Given the description of an element on the screen output the (x, y) to click on. 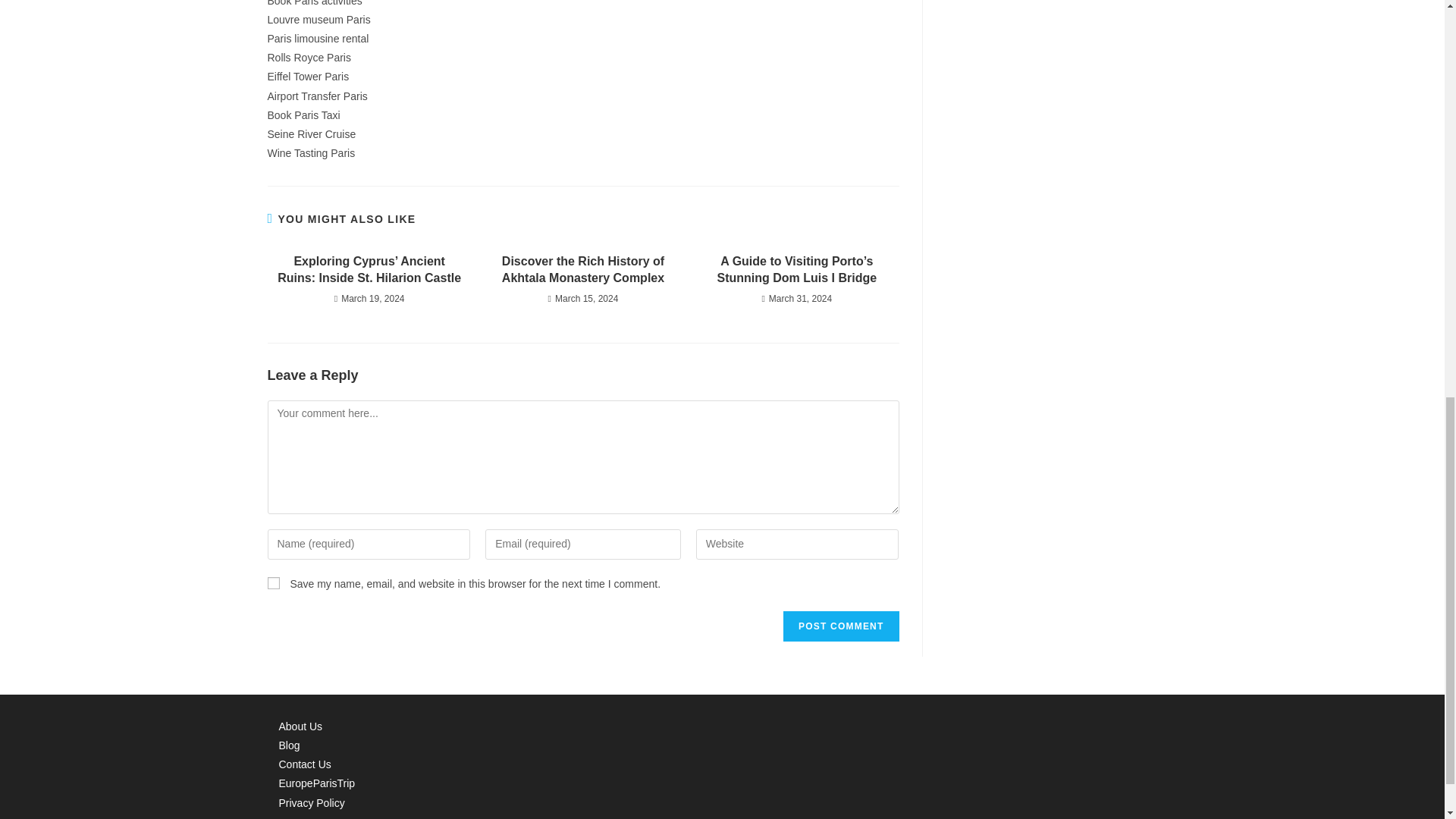
EuropeParisTrip (317, 783)
Blog (289, 745)
yes (272, 582)
Post Comment (840, 625)
Privacy Policy (312, 802)
Discover the Rich History of Akhtala Monastery Complex (582, 270)
Contact Us (305, 764)
About Us (301, 726)
Post Comment (840, 625)
